Given the description of an element on the screen output the (x, y) to click on. 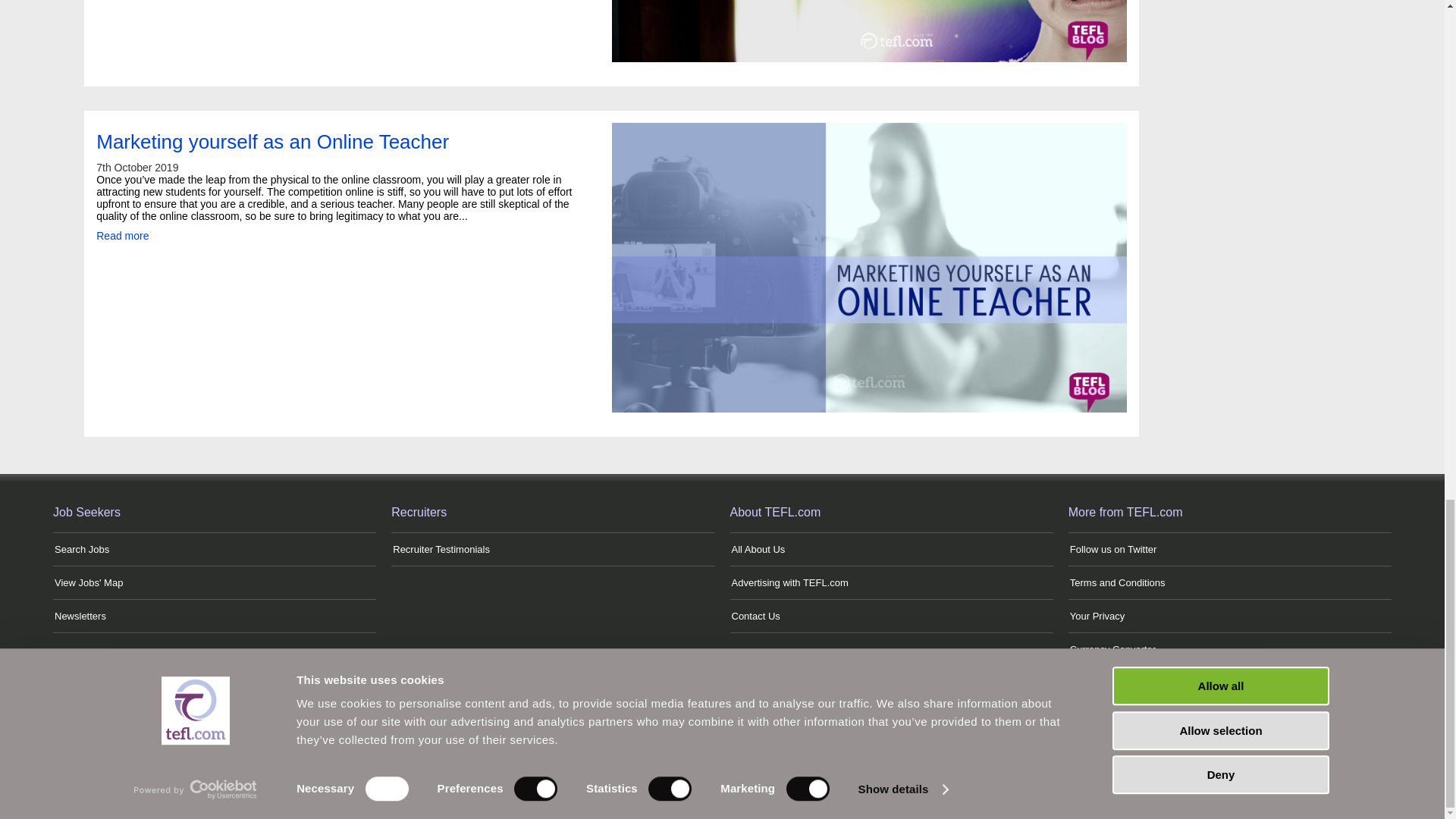
TikTok (811, 754)
Threads (776, 754)
Twitter (596, 754)
This link opens in a new window (1113, 549)
Instagram (704, 754)
Linkedin (740, 754)
Twitter (632, 754)
Facebook (667, 754)
YouTube (847, 754)
